Given the description of an element on the screen output the (x, y) to click on. 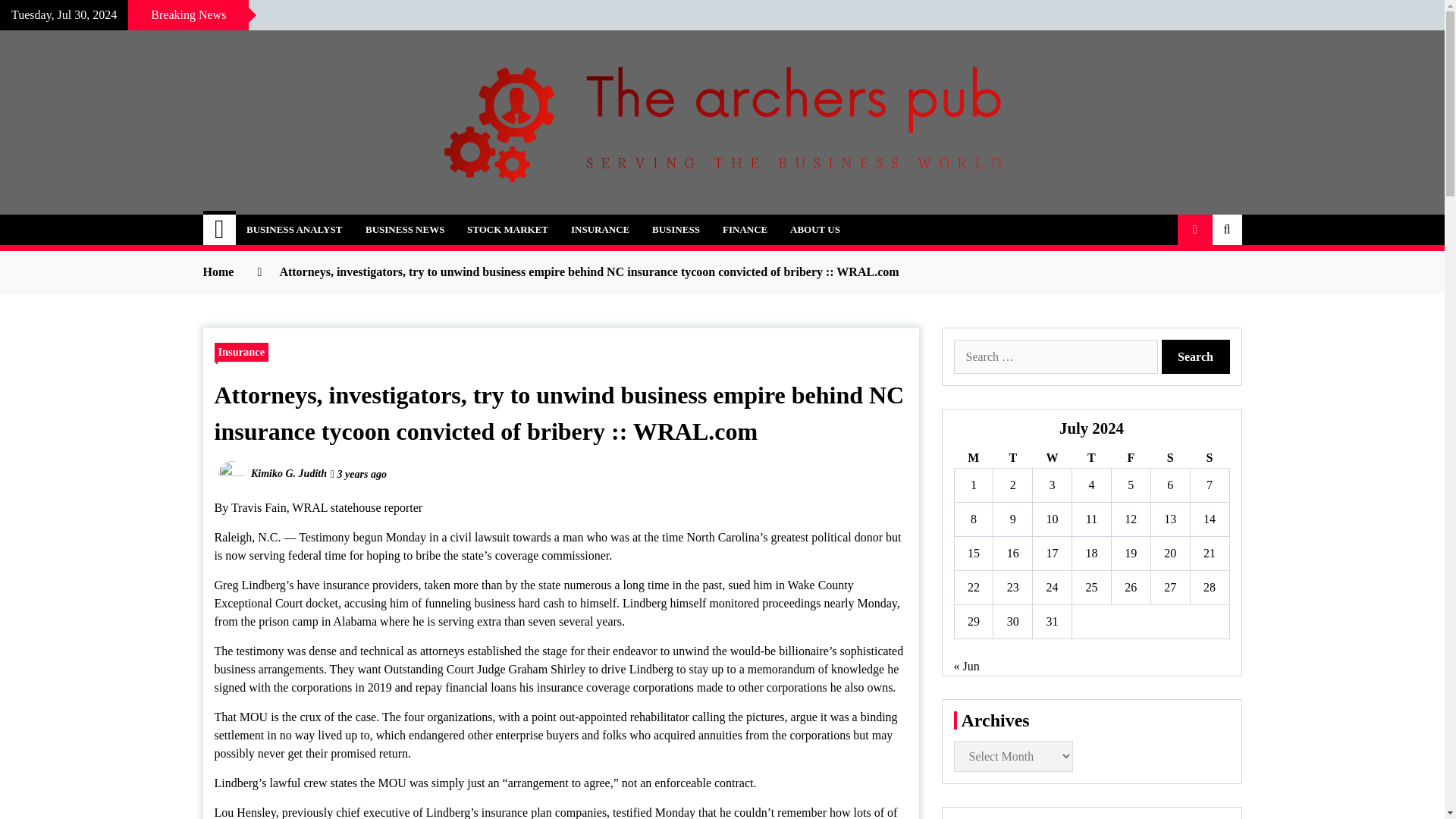
Home (219, 229)
Thursday (1091, 457)
STOCK MARKET (507, 229)
BUSINESS ANALYST (293, 229)
Tuesday (1012, 457)
Friday (1130, 457)
Search (1195, 356)
FINANCE (744, 229)
ABOUT US (814, 229)
Sunday (1208, 457)
Wednesday (1051, 457)
BUSINESS NEWS (404, 229)
The archers pub (320, 220)
Search (1195, 356)
BUSINESS (675, 229)
